Given the description of an element on the screen output the (x, y) to click on. 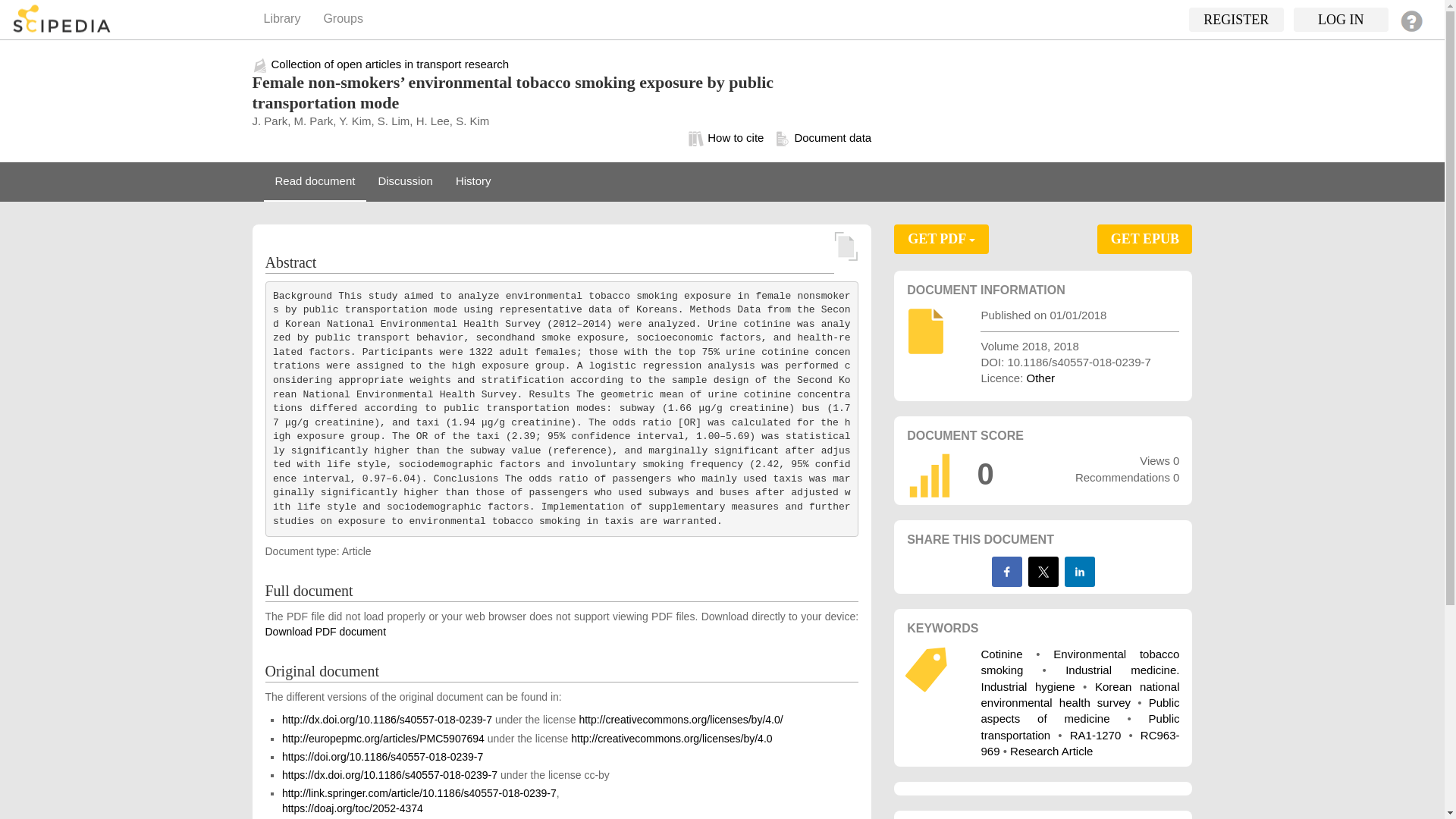
Read document (314, 181)
Collection of open articles in transport research (389, 63)
History (473, 181)
Download PDF document (325, 631)
REGISTER (1236, 19)
Document data (816, 137)
Library (281, 19)
LOG IN (1341, 19)
Discussion (405, 181)
Groups (342, 19)
